Given the description of an element on the screen output the (x, y) to click on. 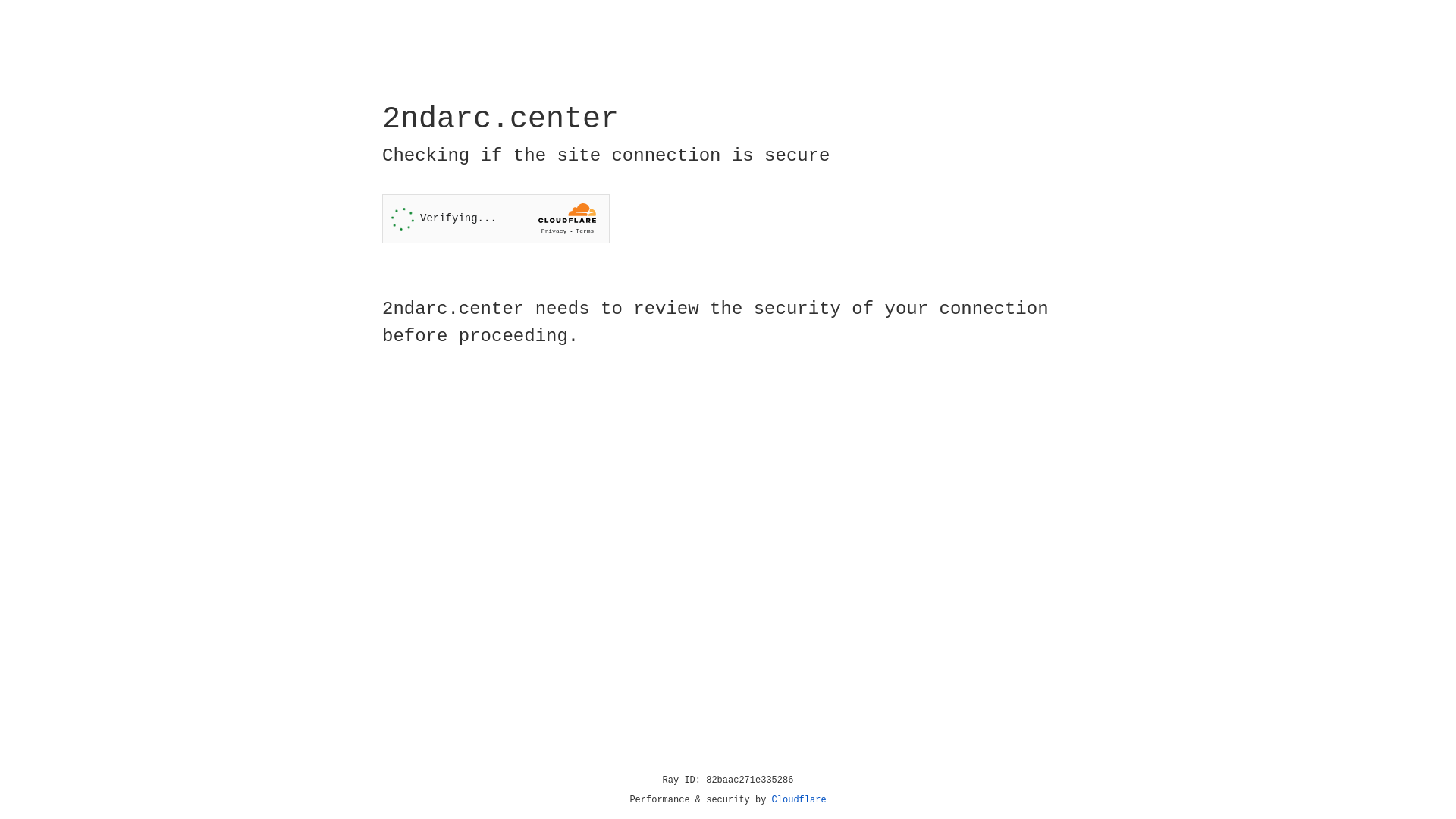
Cloudflare Element type: text (798, 799)
Widget containing a Cloudflare security challenge Element type: hover (495, 218)
